Given the description of an element on the screen output the (x, y) to click on. 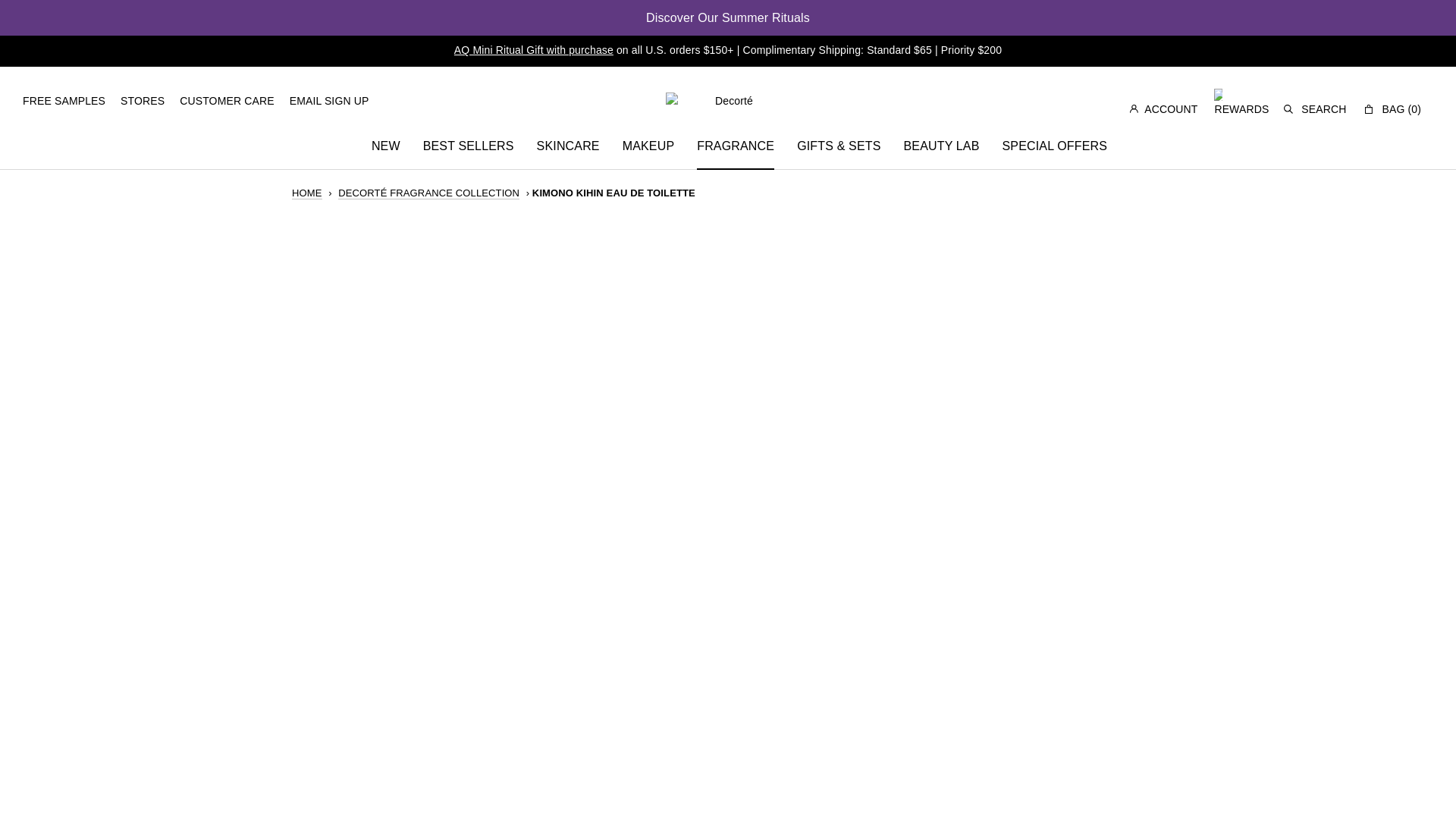
Home (306, 193)
